Given the description of an element on the screen output the (x, y) to click on. 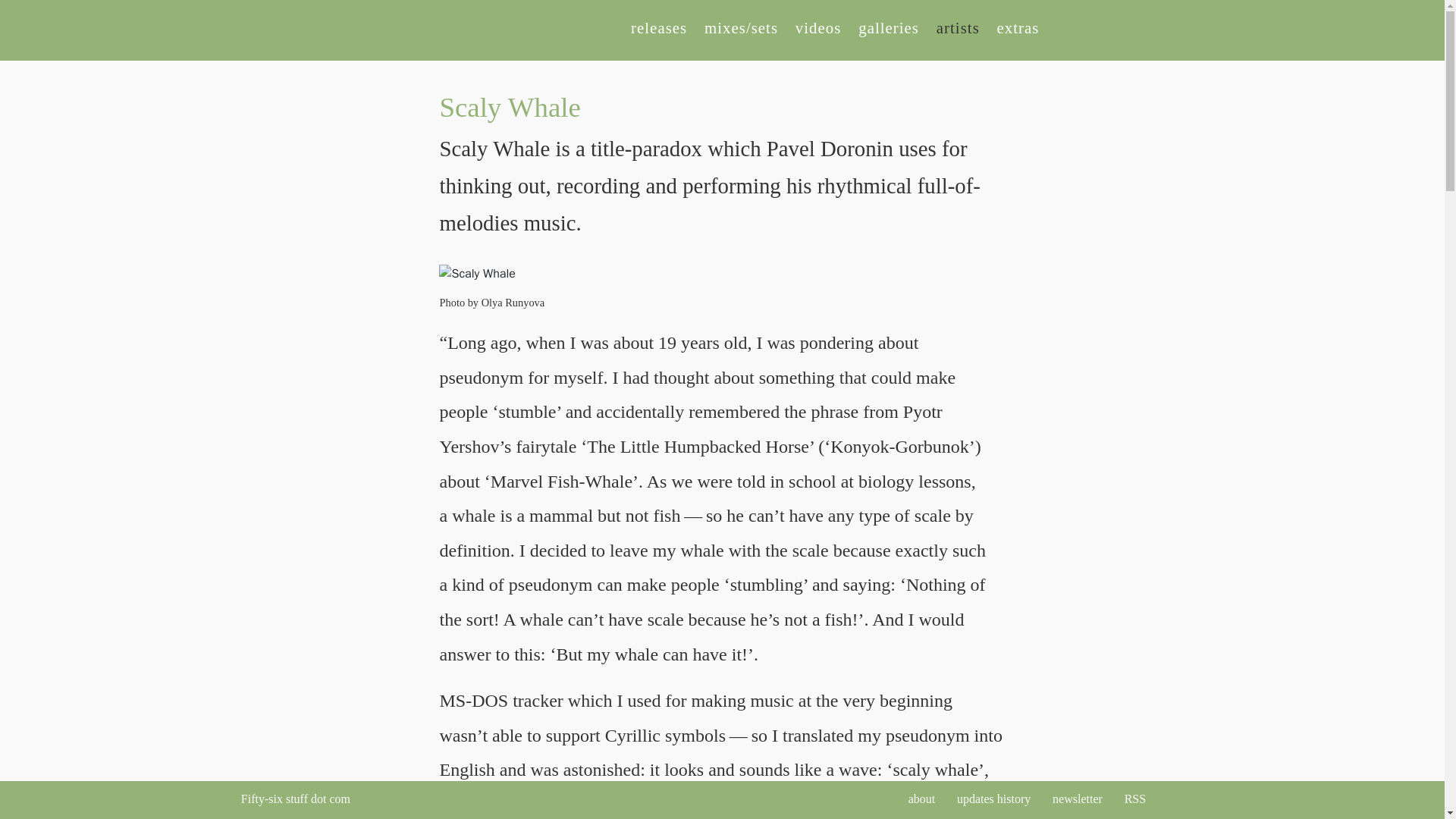
extras (1018, 27)
Scaly Whale (763, 273)
artists (957, 27)
releases (658, 27)
galleries (888, 27)
videos (817, 27)
